Given the description of an element on the screen output the (x, y) to click on. 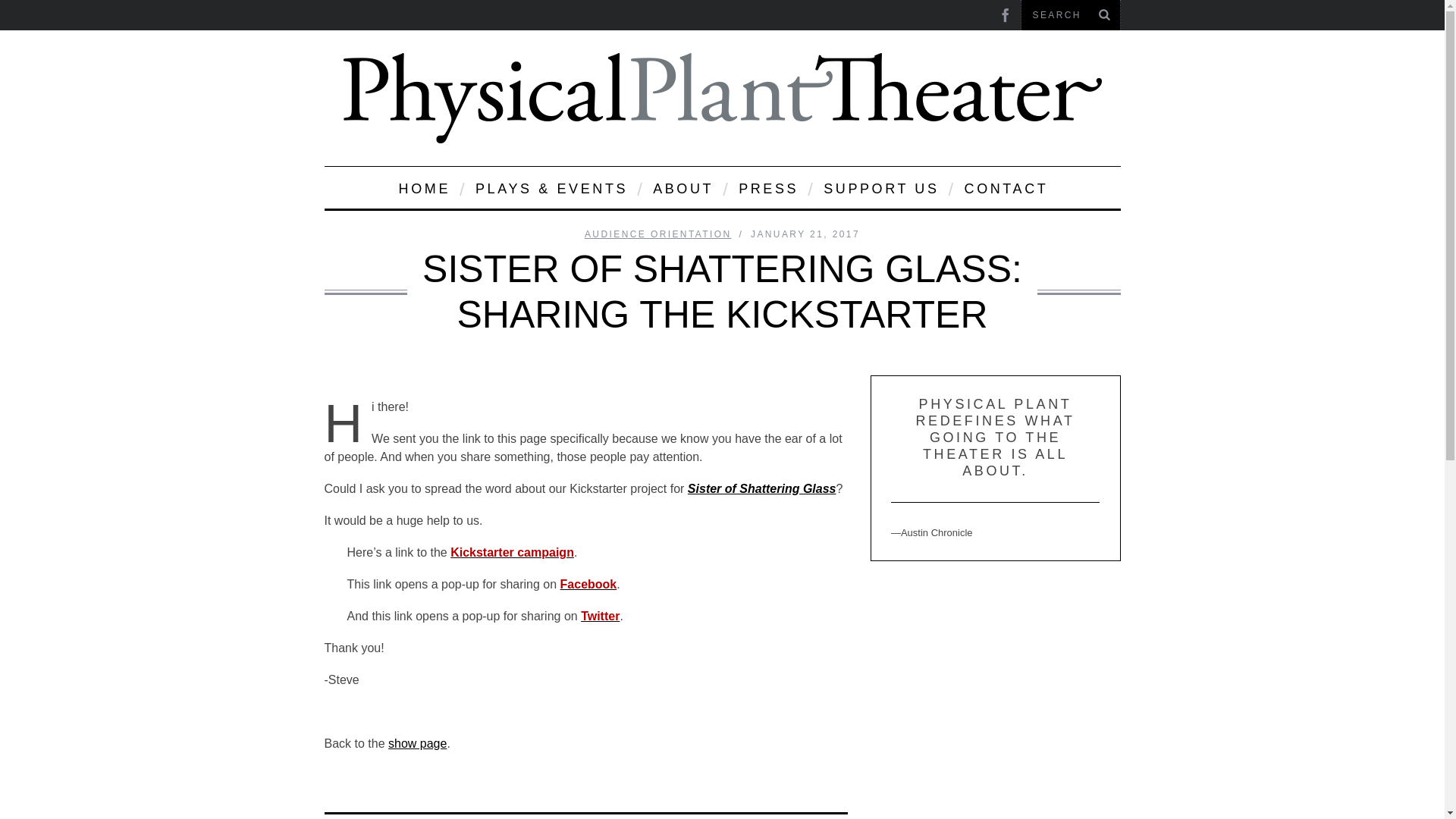
PRESS (767, 187)
Facebook (588, 584)
Search (1070, 15)
HOME (423, 187)
Kickstarter campaign (511, 552)
Sister of Shattering Glass (761, 488)
Twitter (600, 615)
ABOUT (682, 187)
SUPPORT US (879, 187)
CONTACT (1005, 187)
